Given the description of an element on the screen output the (x, y) to click on. 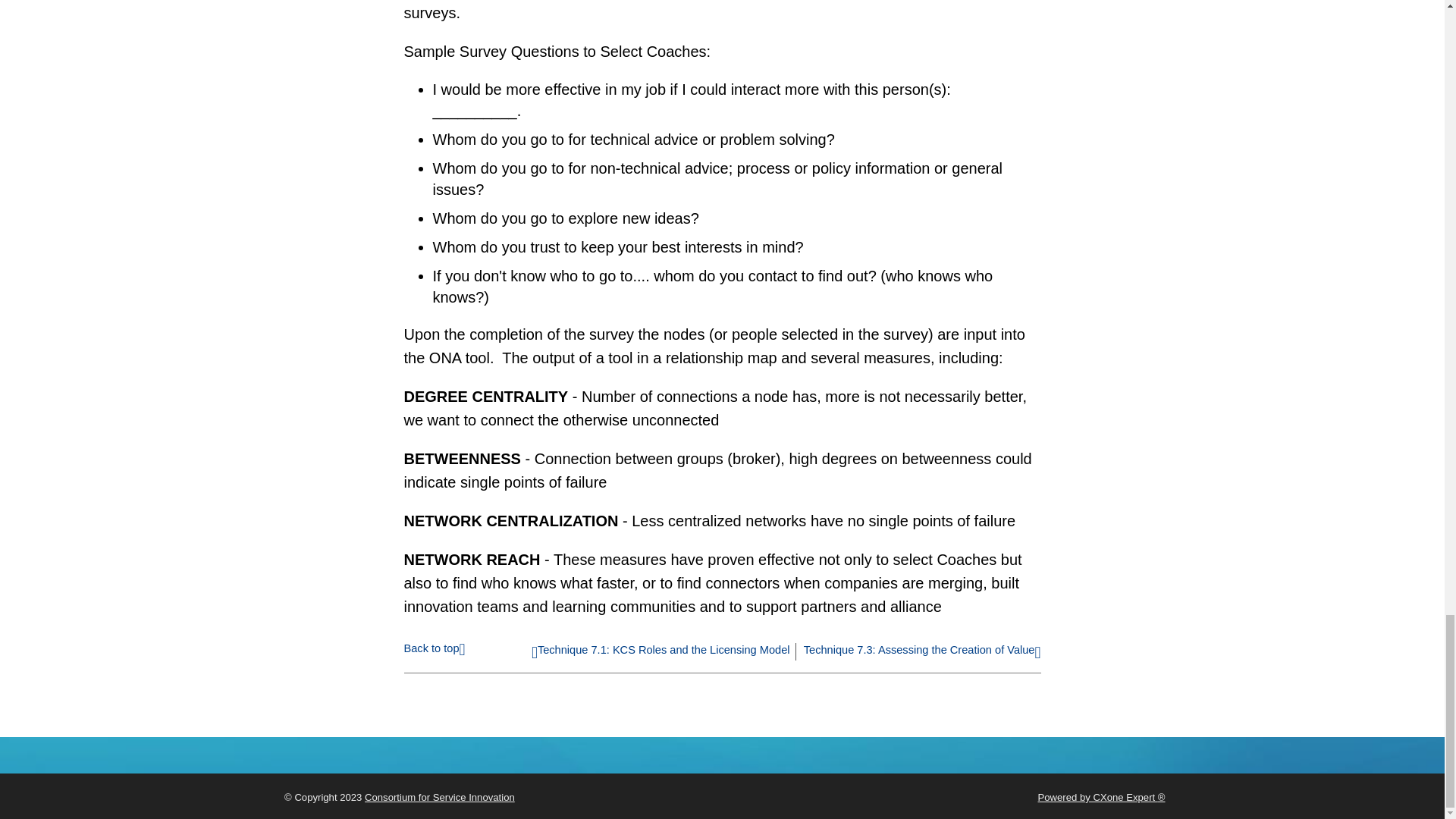
Technique 7.1: KCS Roles and the Licensing Model (660, 653)
Technique 7.1: KCS Roles and the Licensing Model (660, 653)
Back to top (433, 647)
Consortium for Service Innovation (440, 797)
Jump back to top of this article (433, 647)
Technique 7.3: Assessing the Creation of Value (922, 653)
Technique 7.3: Assessing the Creation of Value (922, 653)
